Given the description of an element on the screen output the (x, y) to click on. 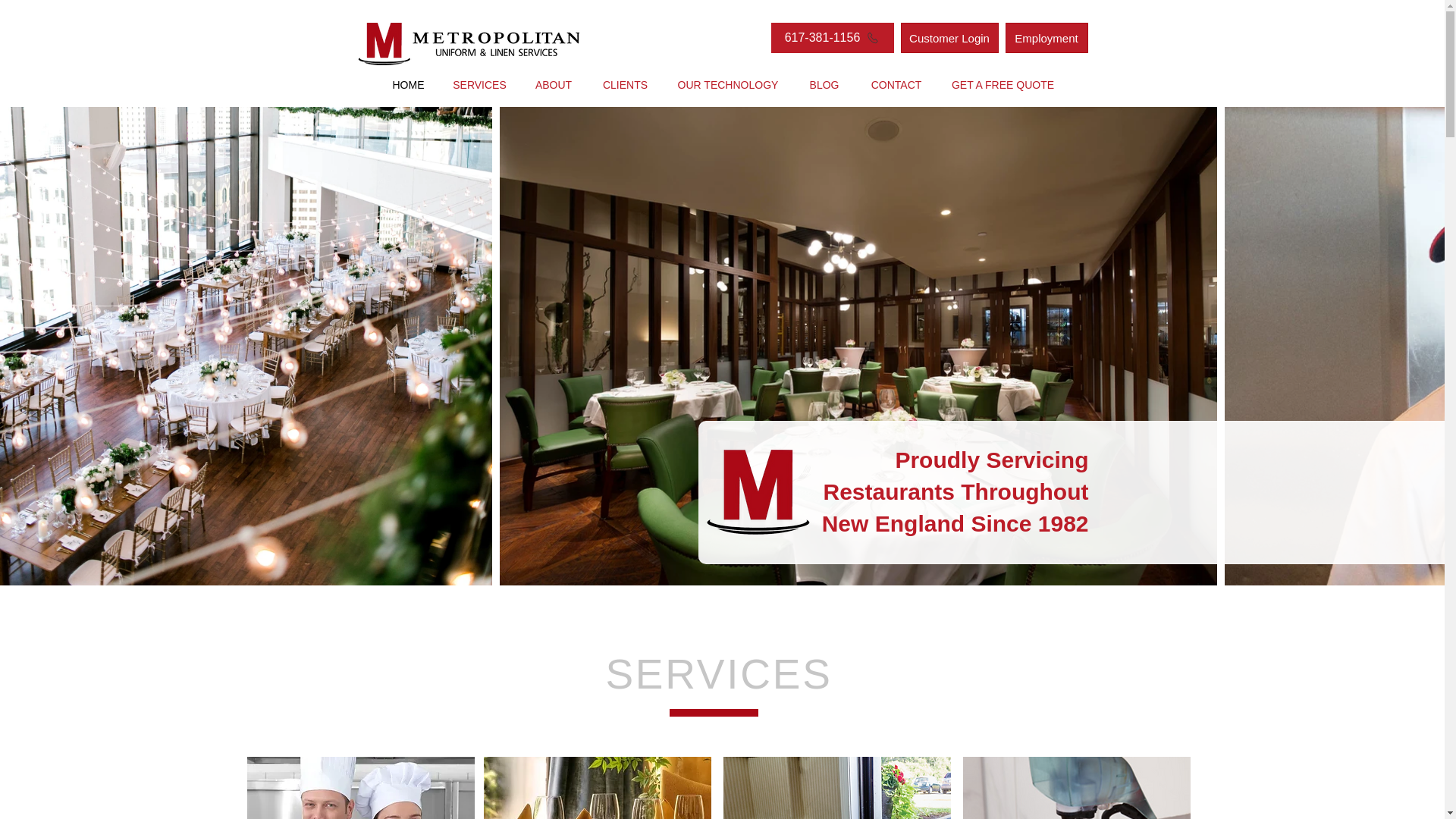
CONTACT (896, 85)
Employment (1046, 37)
OUR TECHNOLOGY (727, 85)
ABOUT (553, 85)
BLOG (823, 85)
617-381-1156 (831, 37)
CLIENTS (625, 85)
SERVICES (478, 85)
Customer Login (949, 37)
HOME (407, 85)
GET A FREE QUOTE (1002, 85)
